Given the description of an element on the screen output the (x, y) to click on. 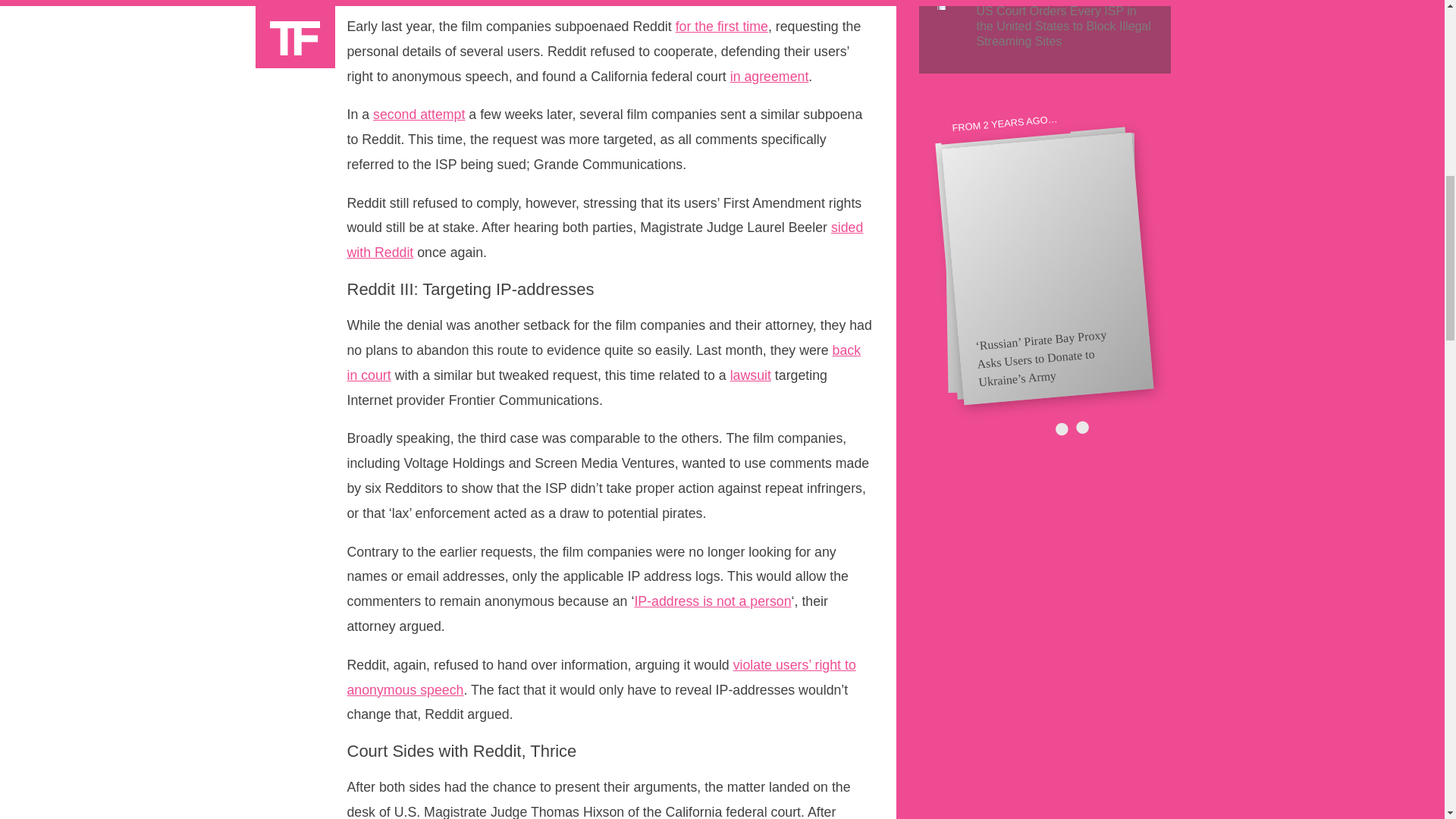
for the first time (721, 26)
second attempt (418, 114)
back in court (604, 363)
in agreement (769, 76)
lawsuit (750, 375)
sided with Reddit (605, 240)
IP-address is not a person (711, 601)
